Given the description of an element on the screen output the (x, y) to click on. 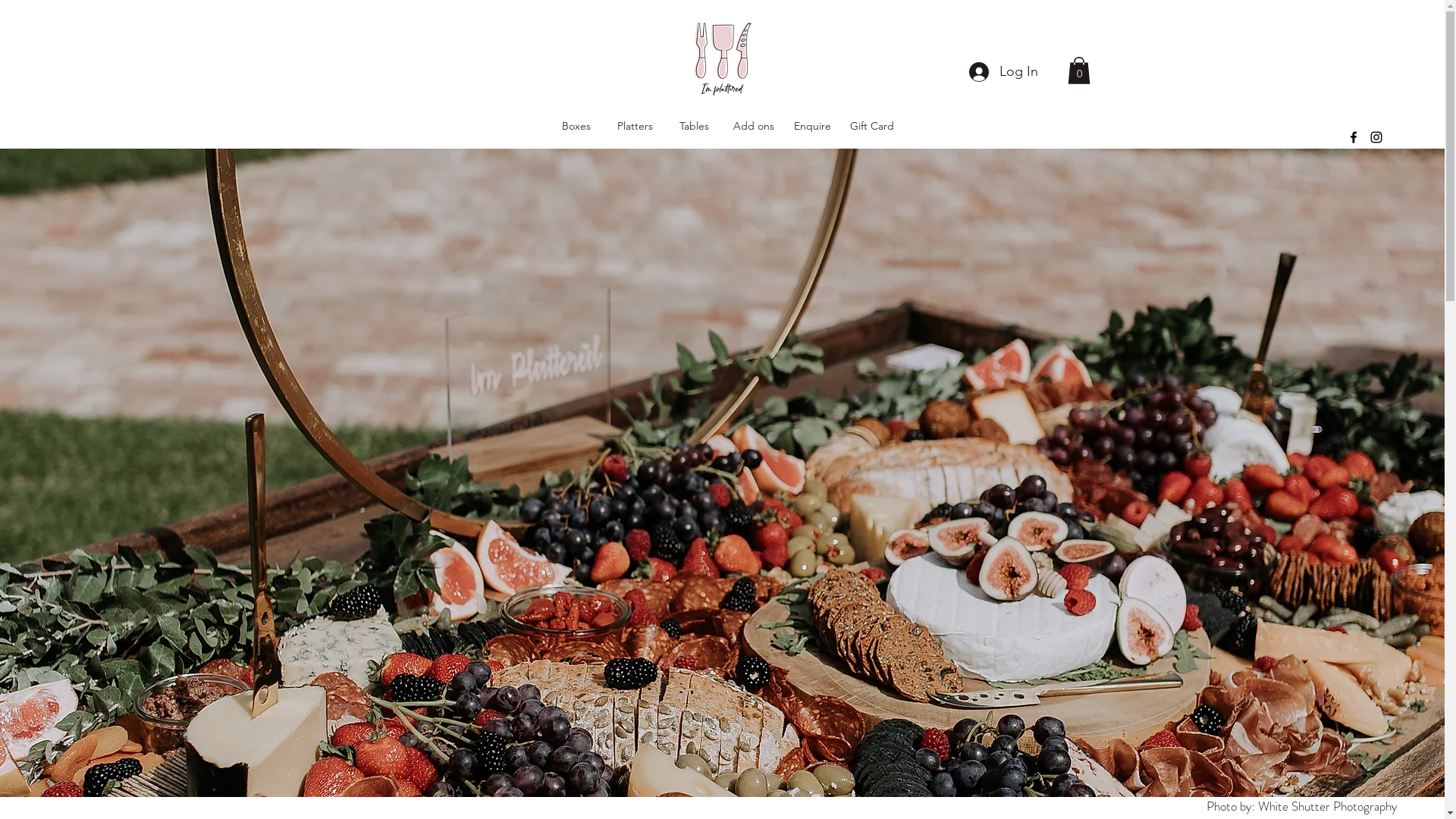
Gift Card Element type: text (871, 125)
Log In Element type: text (1003, 71)
0 Element type: text (1078, 70)
Add ons Element type: text (753, 125)
Enquire Element type: text (812, 125)
Tables Element type: text (694, 125)
Platters Element type: text (635, 125)
Boxes Element type: text (575, 125)
